Given the description of an element on the screen output the (x, y) to click on. 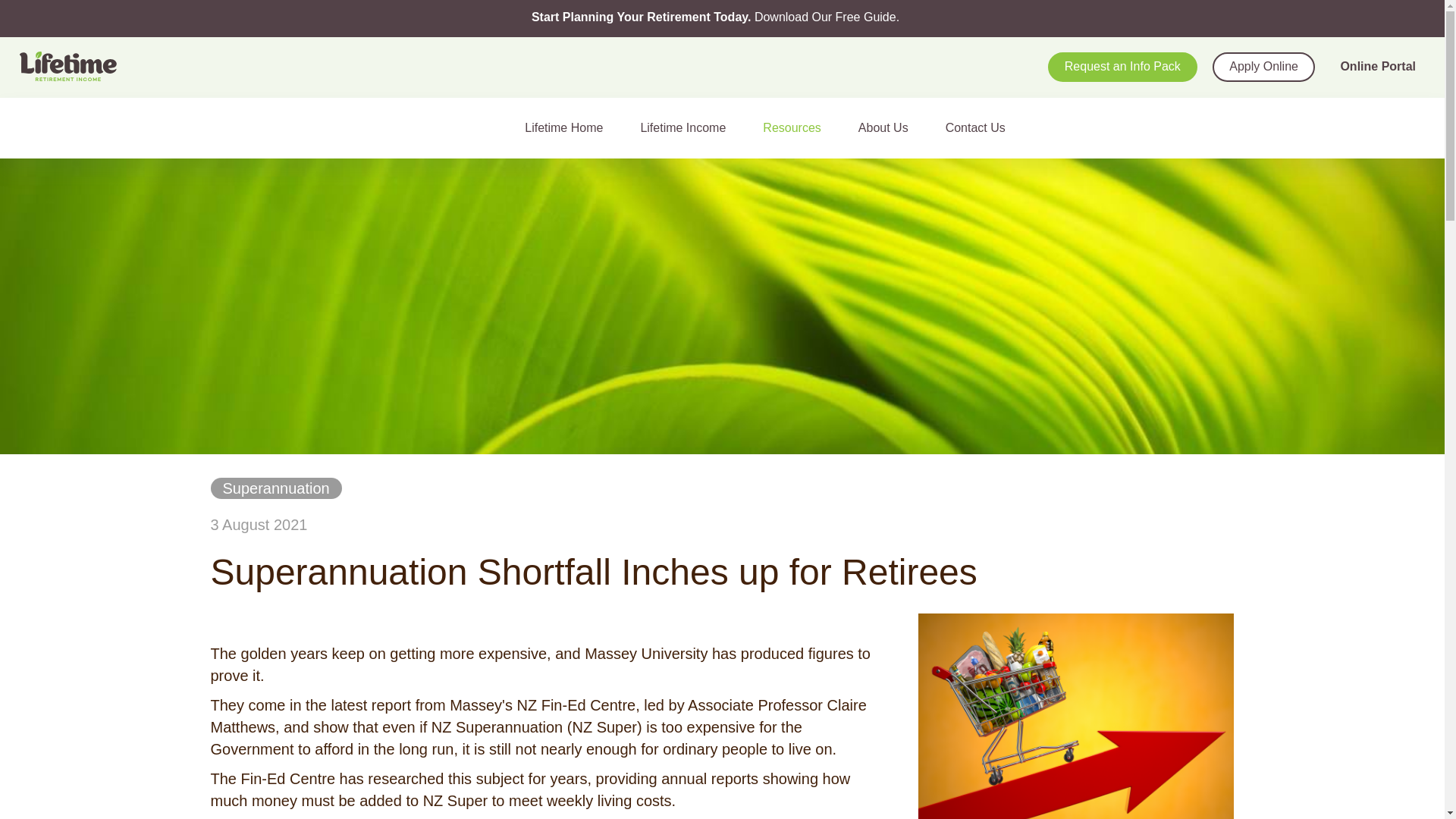
Lifetime Home (569, 127)
Resources (797, 127)
Lifetime Home (569, 127)
Contact Us (980, 127)
Lifetime Income (689, 127)
Lifetime Income (689, 127)
Request an Info Pack (1122, 66)
About Us (890, 127)
Online Portal (1377, 67)
About Us (890, 127)
Contact Us (980, 127)
Resources (797, 127)
Apply Online (1263, 66)
